Given the description of an element on the screen output the (x, y) to click on. 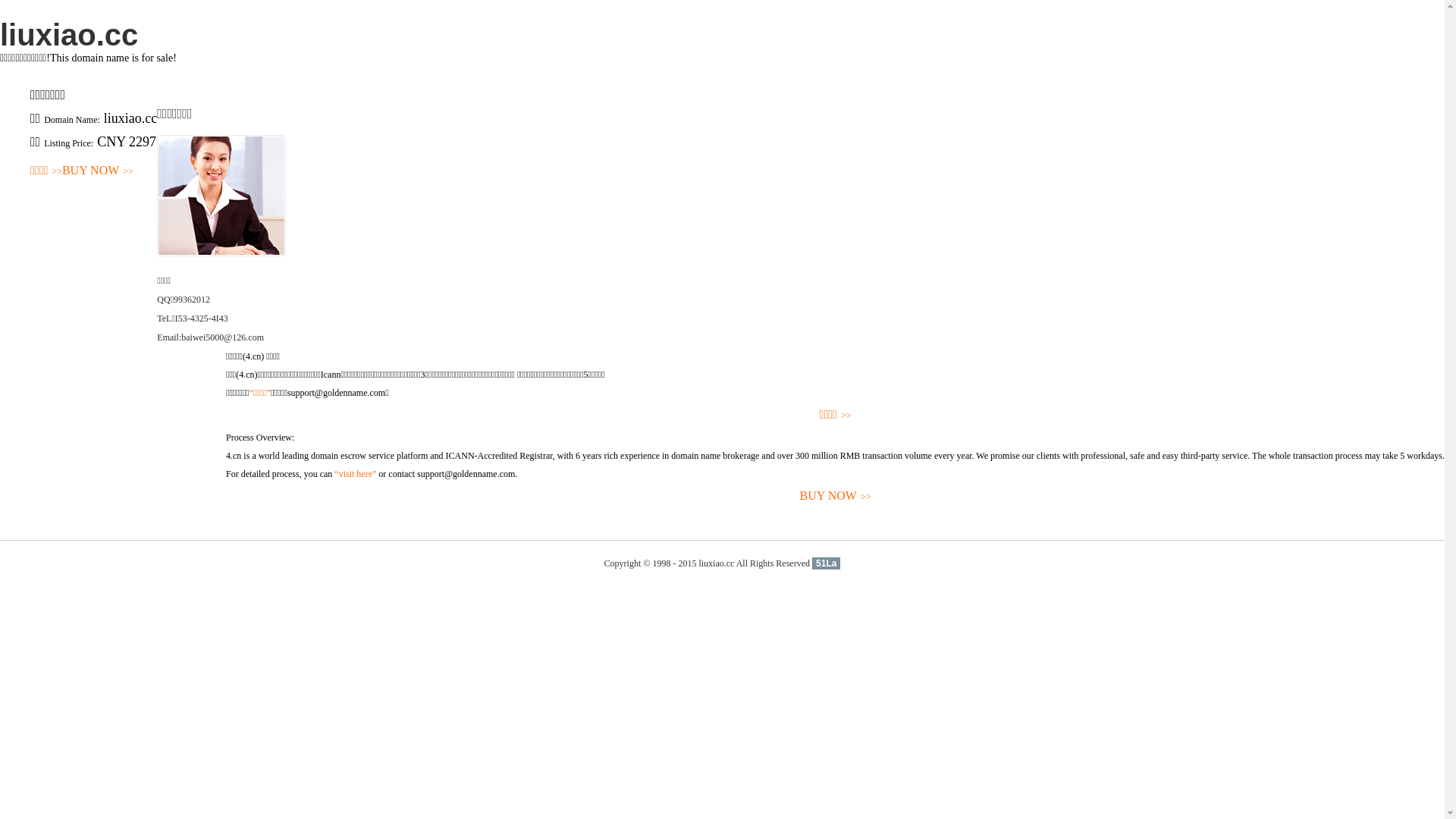
BUY NOW>> Element type: text (834, 496)
51La Element type: text (826, 563)
BUY NOW>> Element type: text (97, 170)
